Given the description of an element on the screen output the (x, y) to click on. 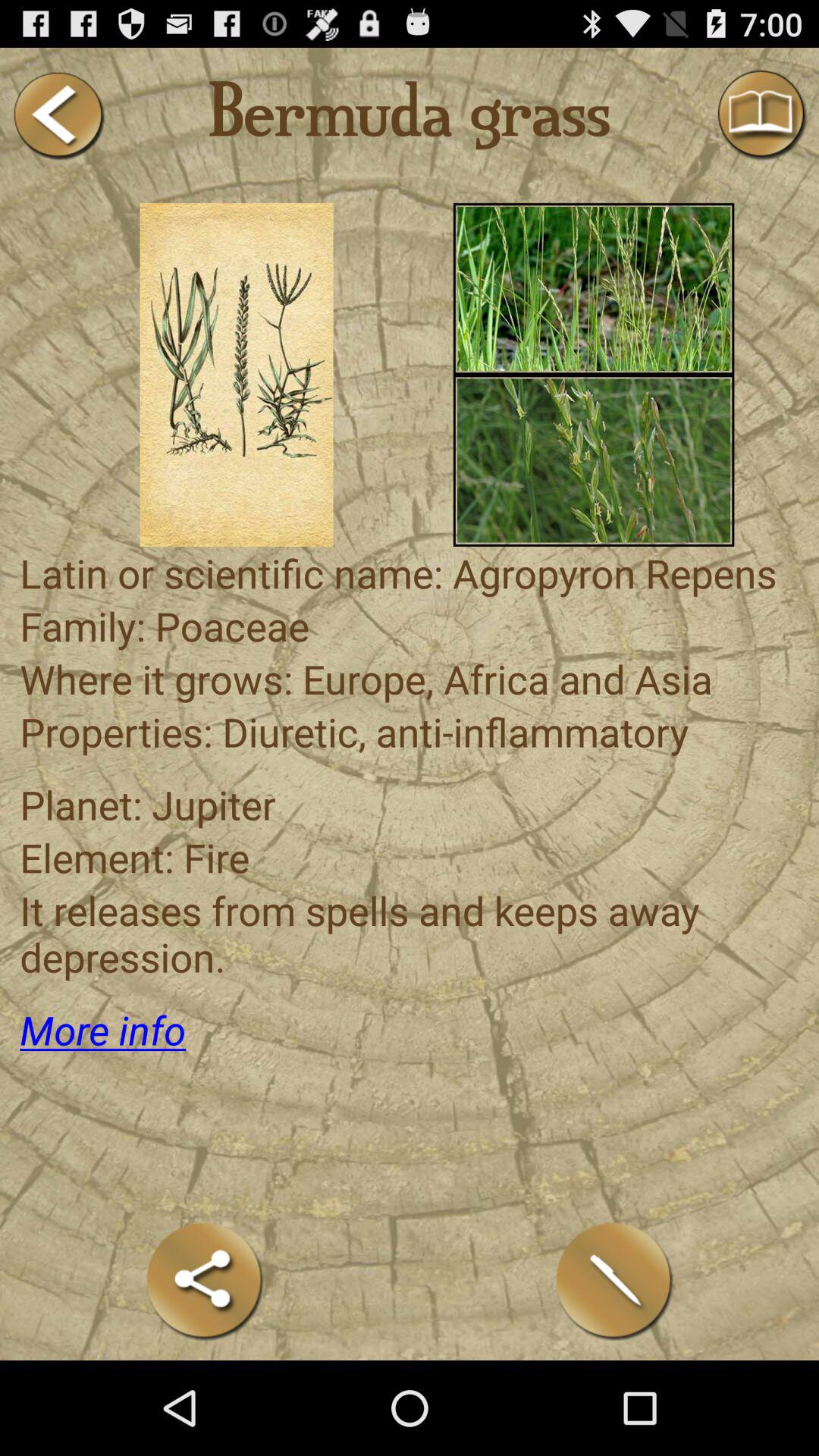
picture (593, 288)
